Given the description of an element on the screen output the (x, y) to click on. 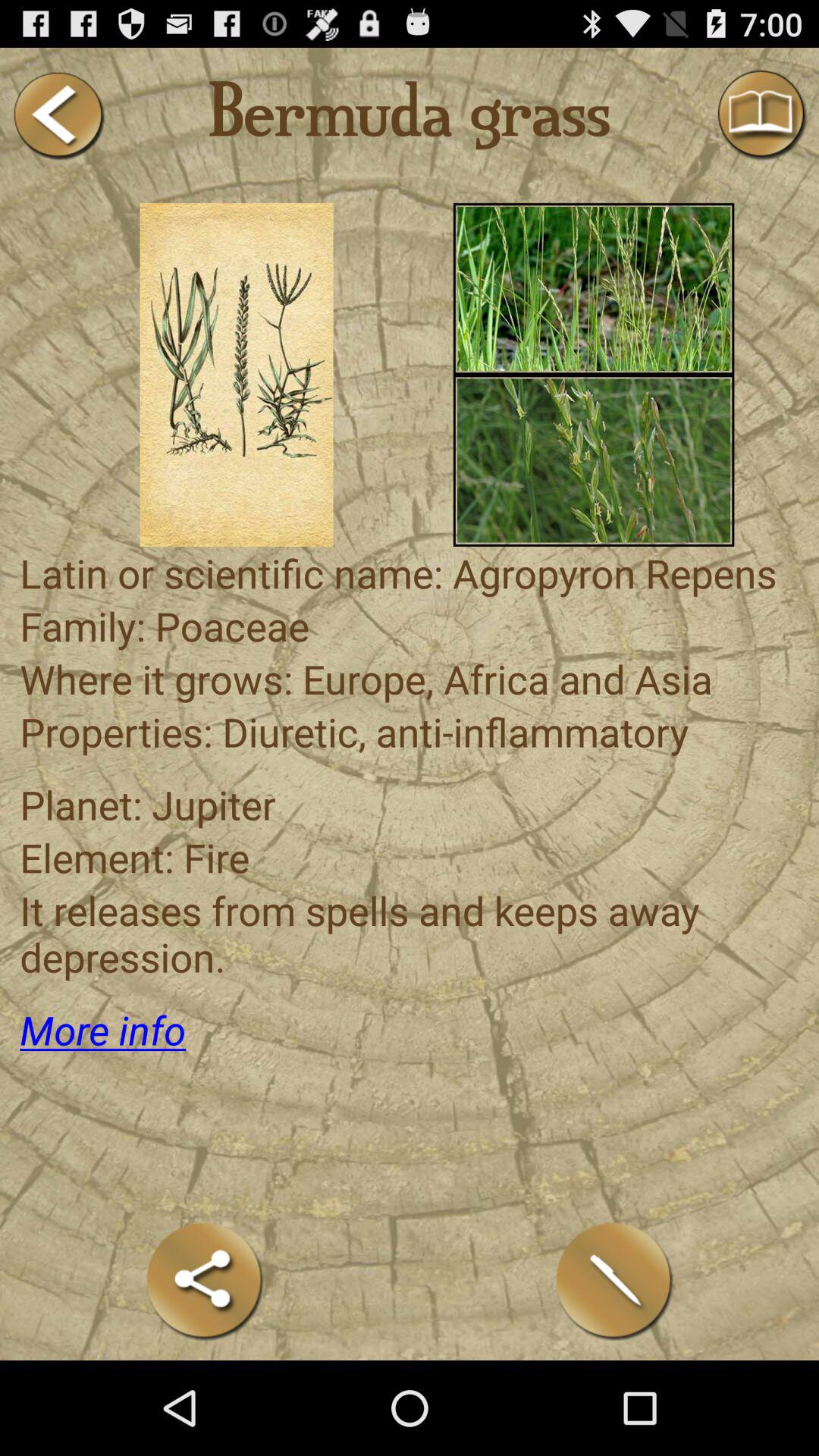
picture (593, 288)
